Given the description of an element on the screen output the (x, y) to click on. 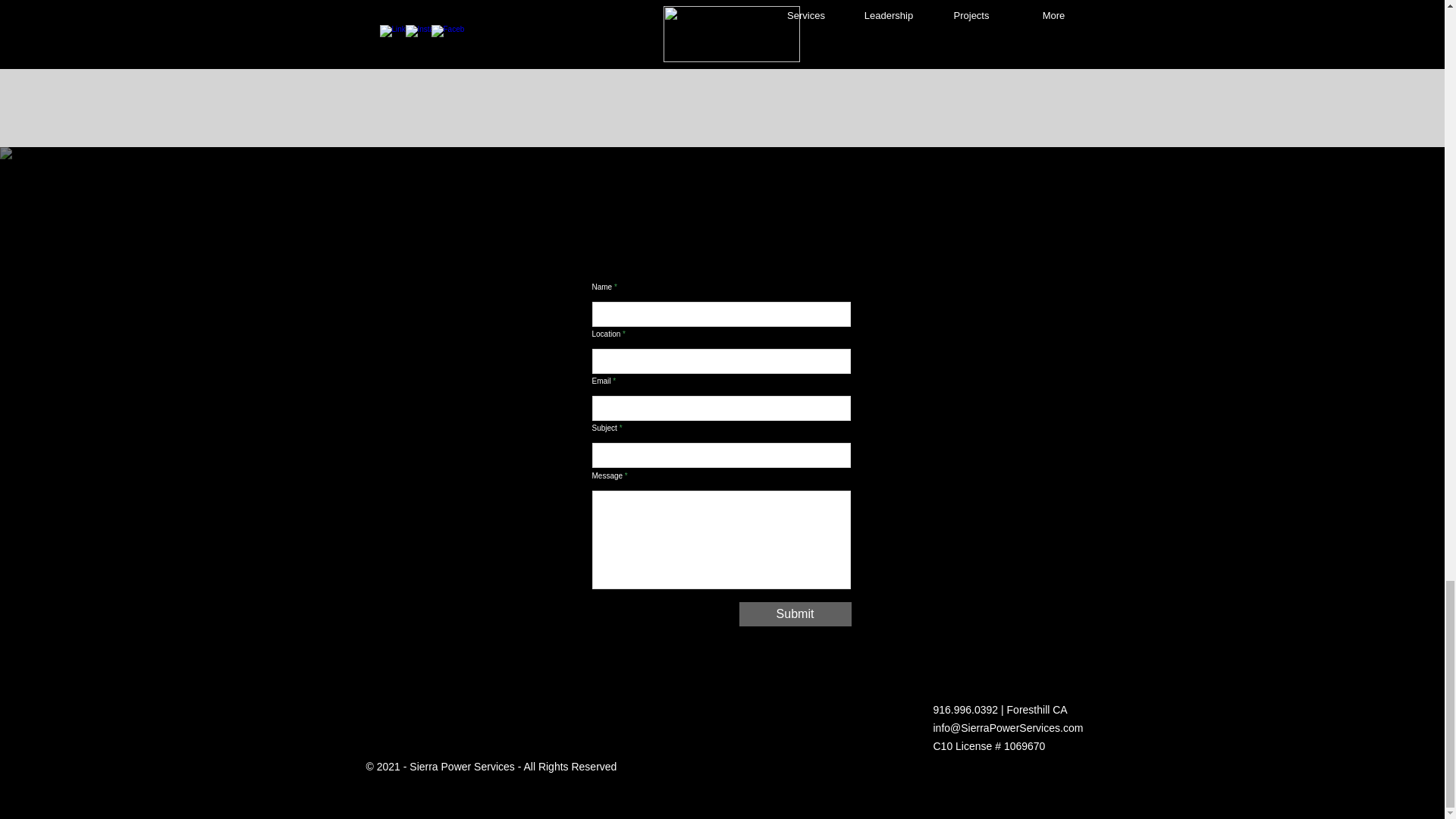
Submit (794, 613)
